Given the description of an element on the screen output the (x, y) to click on. 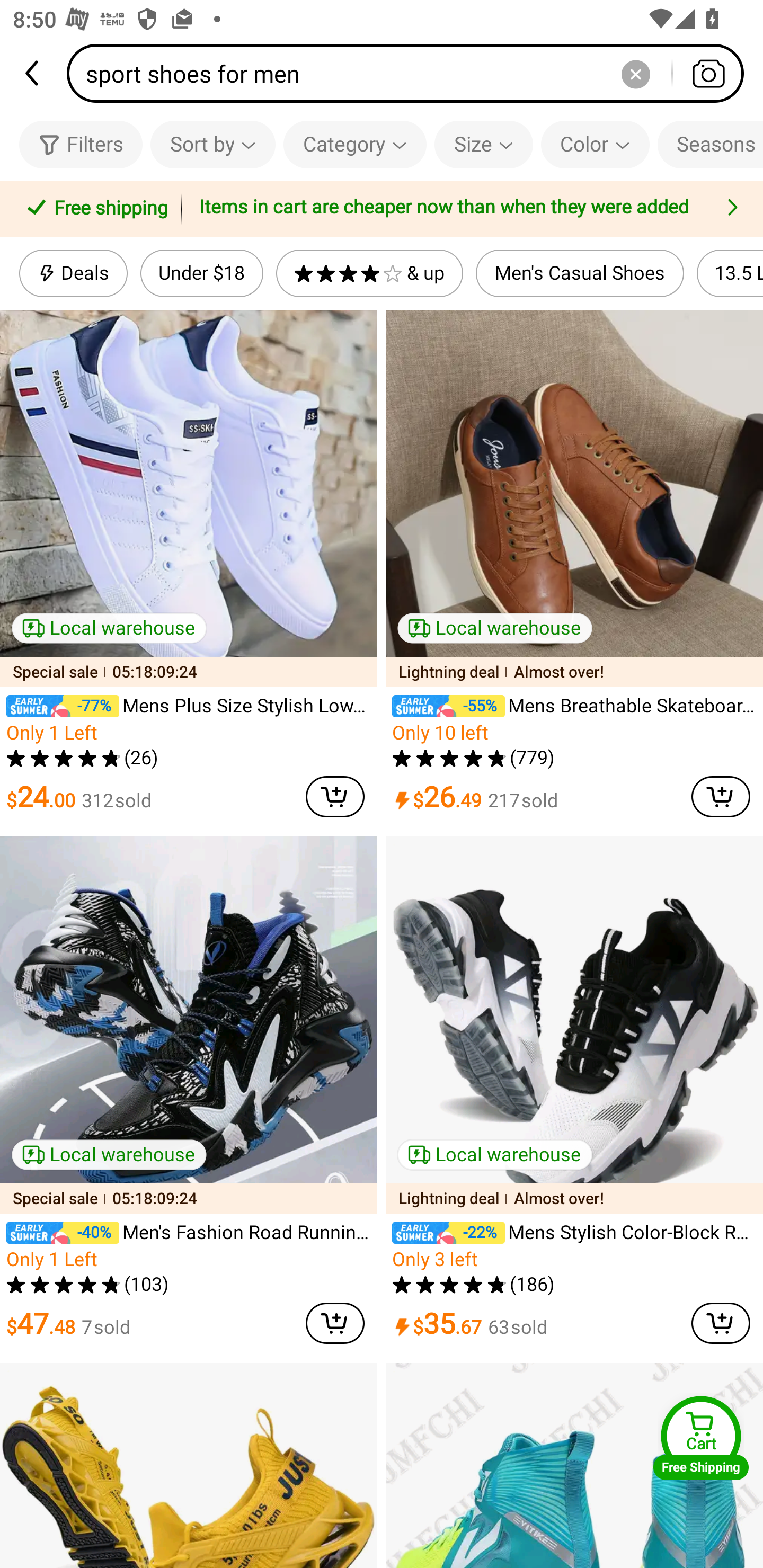
back (33, 72)
sport shoes for men (411, 73)
Delete search history (635, 73)
Search by photo (708, 73)
Filters (80, 143)
Sort by (212, 143)
Category (354, 143)
Size (483, 143)
Color (594, 143)
Seasons (710, 143)
 Free shipping (93, 208)
Deals (73, 273)
Under $18 (201, 273)
& up (369, 273)
Men's Casual Shoes (580, 273)
Cart Free Shipping Cart (701, 1437)
